Given the description of an element on the screen output the (x, y) to click on. 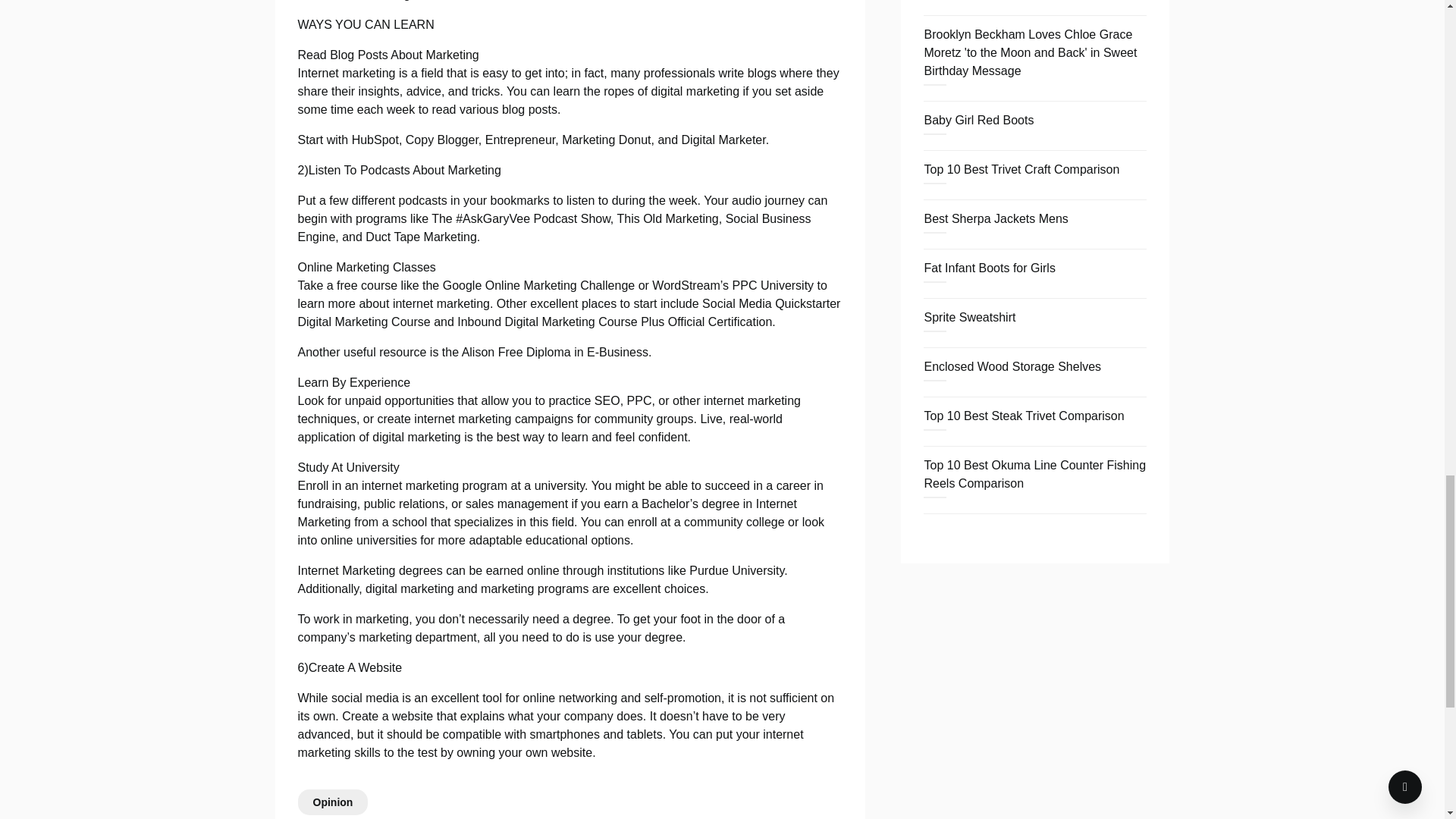
Top 10 Best Trivet Craft Comparison (1021, 169)
Sprite Sweatshirt (968, 317)
Fat Infant Boots for Girls (988, 267)
Opinion (332, 801)
Enclosed Wood Storage Shelves (1011, 366)
Top 10 Best Steak Trivet Comparison (1023, 415)
Best Sherpa Jackets Mens (995, 218)
Baby Girl Red Boots (978, 119)
